Given the description of an element on the screen output the (x, y) to click on. 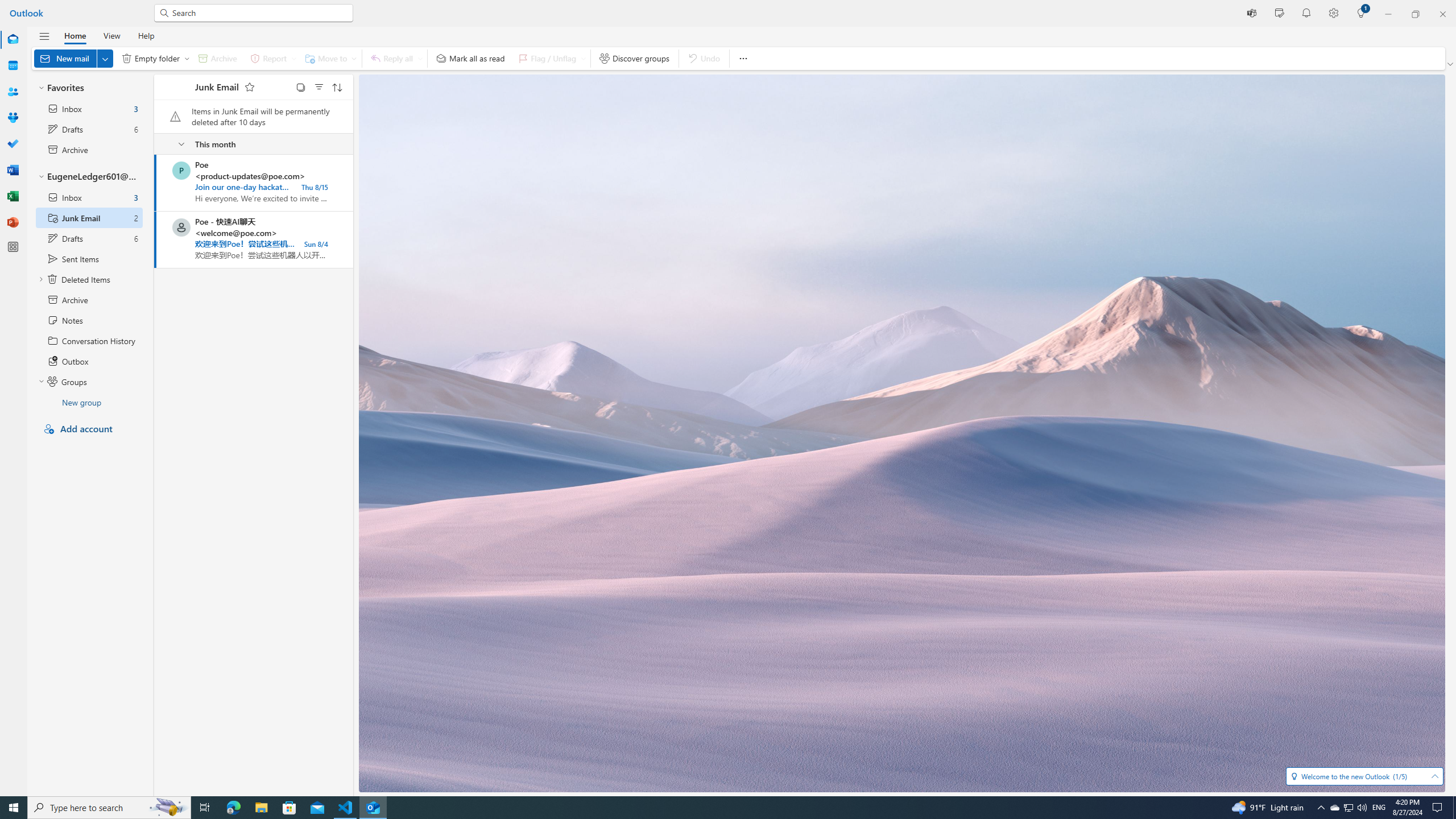
Favoriting adds the category to your folder pane (249, 86)
